Given the description of an element on the screen output the (x, y) to click on. 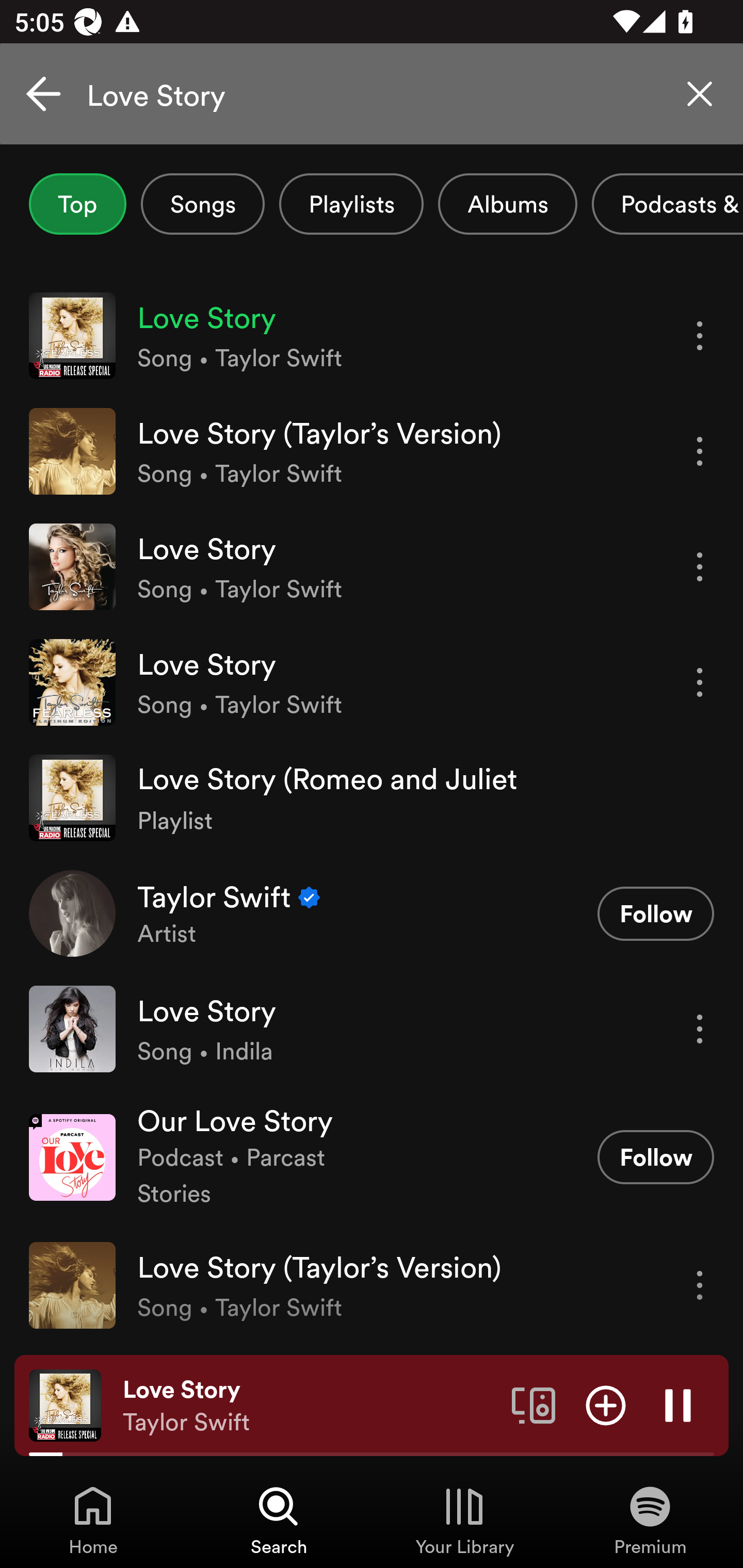
Love Story (371, 93)
Cancel (43, 93)
Clear search query (699, 93)
Top (77, 203)
Songs (202, 203)
Playlists (351, 203)
Albums (507, 203)
Podcasts & Shows (667, 203)
More options for song Love Story (699, 336)
More options for song Love Story (699, 566)
More options for song Love Story (699, 682)
Love Story (Romeo and Juliet Playlist (371, 798)
Taylor Swift Verified Artist Follow Follow (371, 913)
Follow (655, 912)
More options for song Love Story (699, 1029)
Follow (655, 1156)
Love Story Taylor Swift (309, 1405)
The cover art of the currently playing track (64, 1404)
Connect to a device. Opens the devices menu (533, 1404)
Add item (605, 1404)
Pause (677, 1404)
Home, Tab 1 of 4 Home Home (92, 1519)
Search, Tab 2 of 4 Search Search (278, 1519)
Your Library, Tab 3 of 4 Your Library Your Library (464, 1519)
Premium, Tab 4 of 4 Premium Premium (650, 1519)
